Given the description of an element on the screen output the (x, y) to click on. 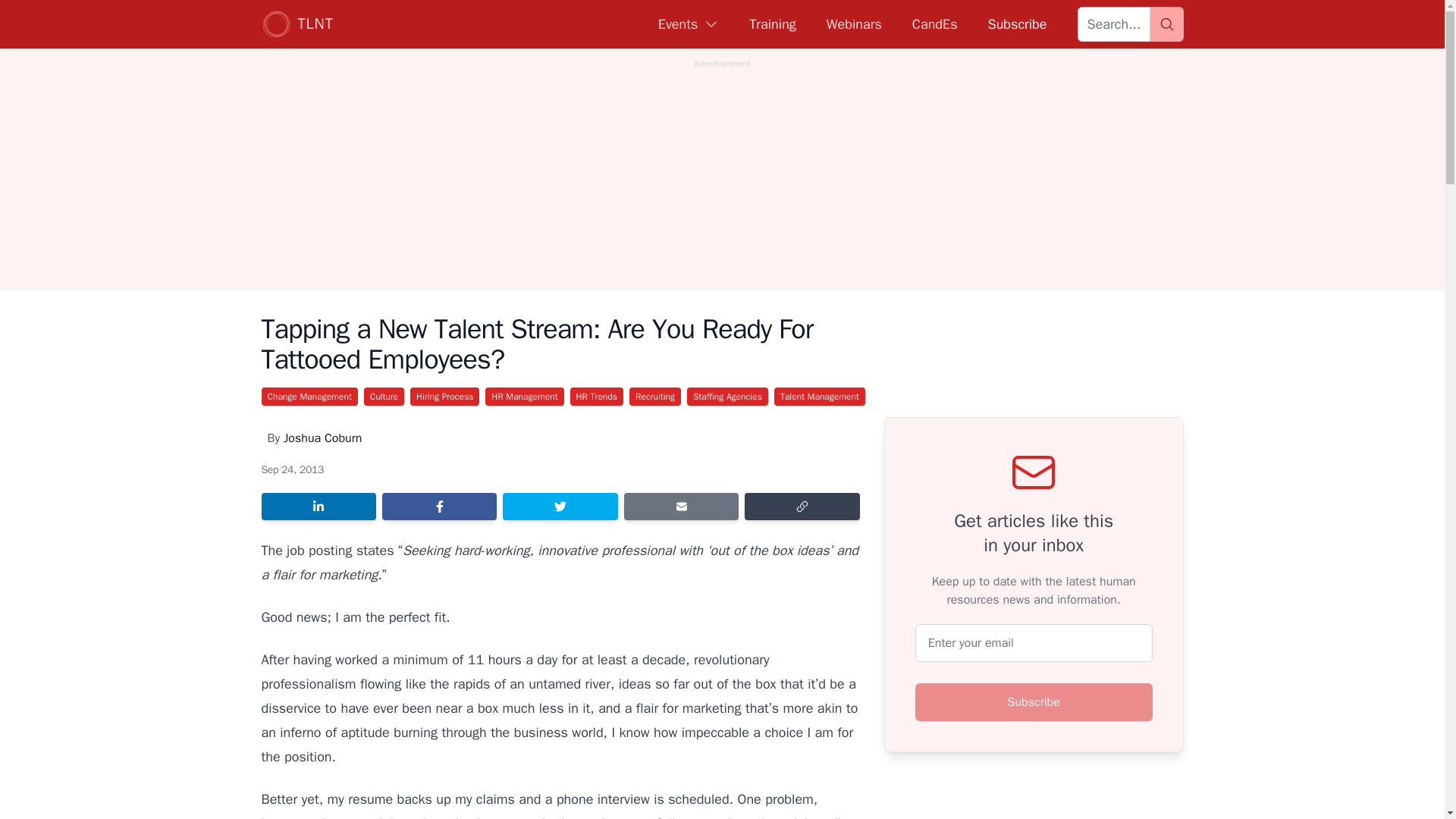
TLNT (296, 24)
Change Management (308, 396)
Webinars (854, 24)
Recruiting (654, 396)
Training (771, 24)
Subscribe (1034, 702)
HR Trends (596, 396)
Subscribe (1016, 24)
Staffing Agencies (727, 396)
